Given the description of an element on the screen output the (x, y) to click on. 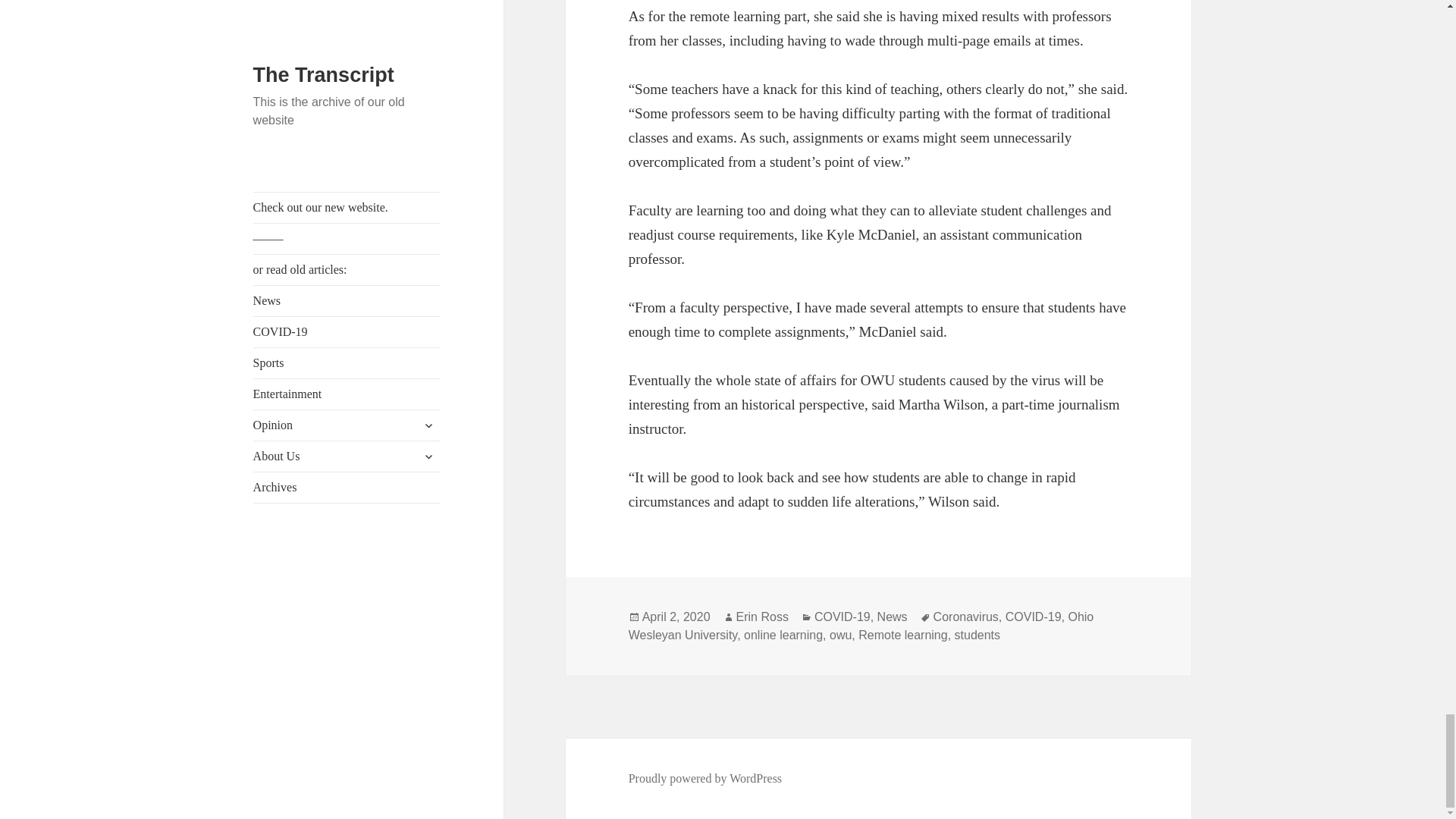
Erin Ross (762, 617)
News (892, 617)
COVID-19 (841, 617)
April 2, 2020 (676, 617)
Coronavirus (965, 617)
